Given the description of an element on the screen output the (x, y) to click on. 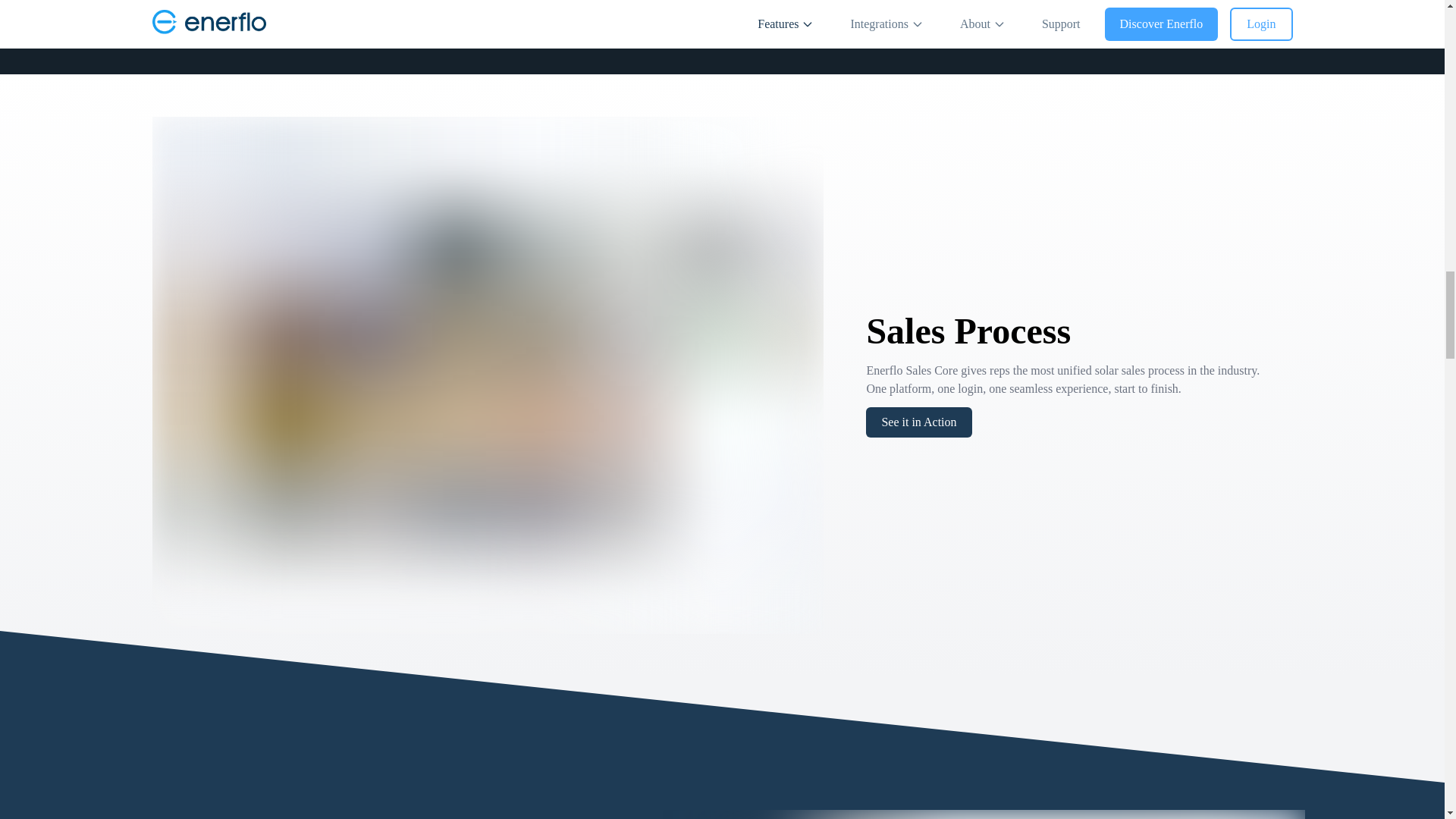
See it in Action (918, 422)
